Given the description of an element on the screen output the (x, y) to click on. 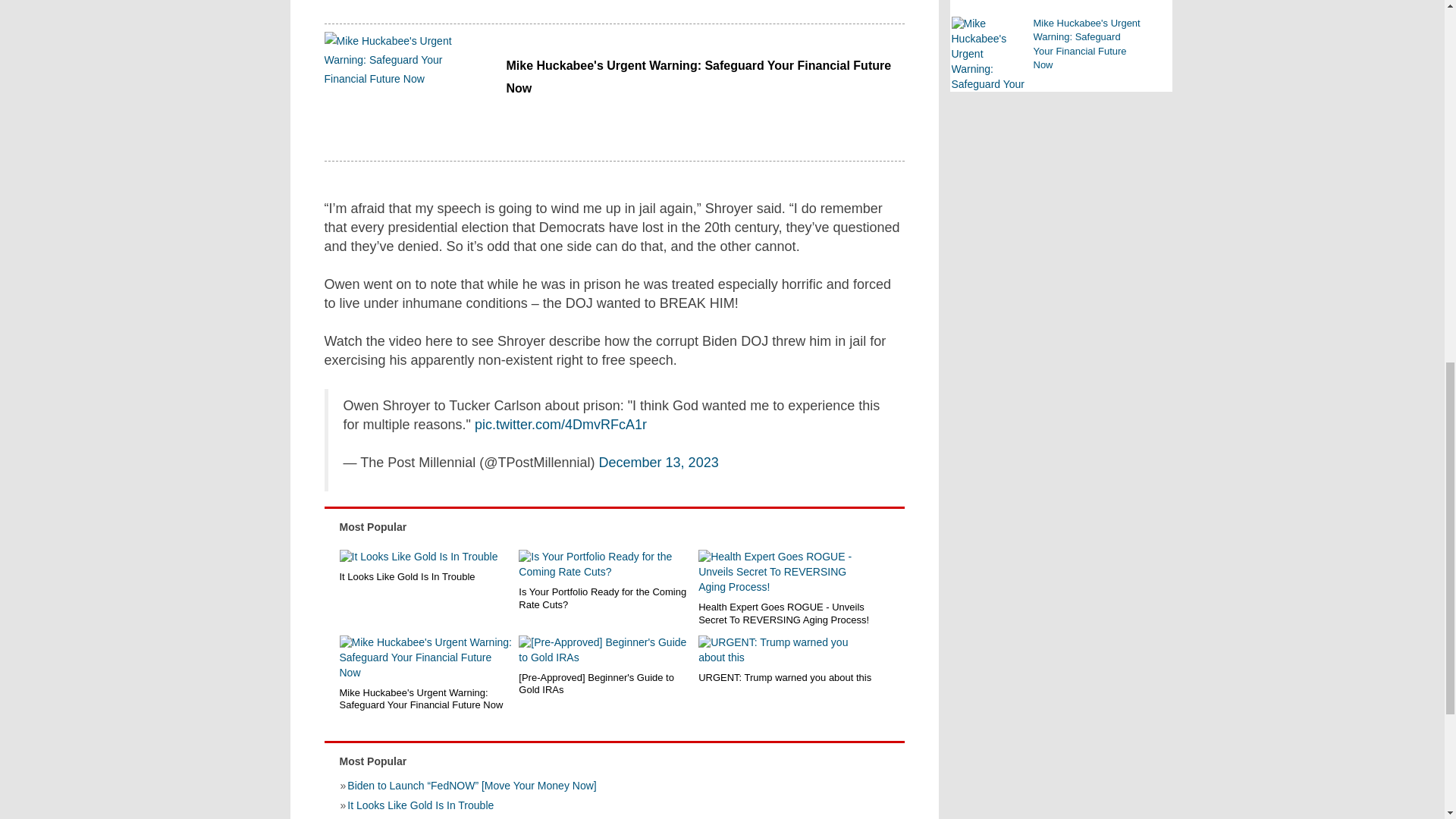
December 13, 2023 (658, 462)
It Looks Like Gold Is In Trouble (426, 576)
It Looks Like Gold Is In Trouble (426, 557)
Is Your Portfolio Ready for the Coming Rate Cuts? (605, 598)
URGENT: Trump warned you about this (785, 650)
